Given the description of an element on the screen output the (x, y) to click on. 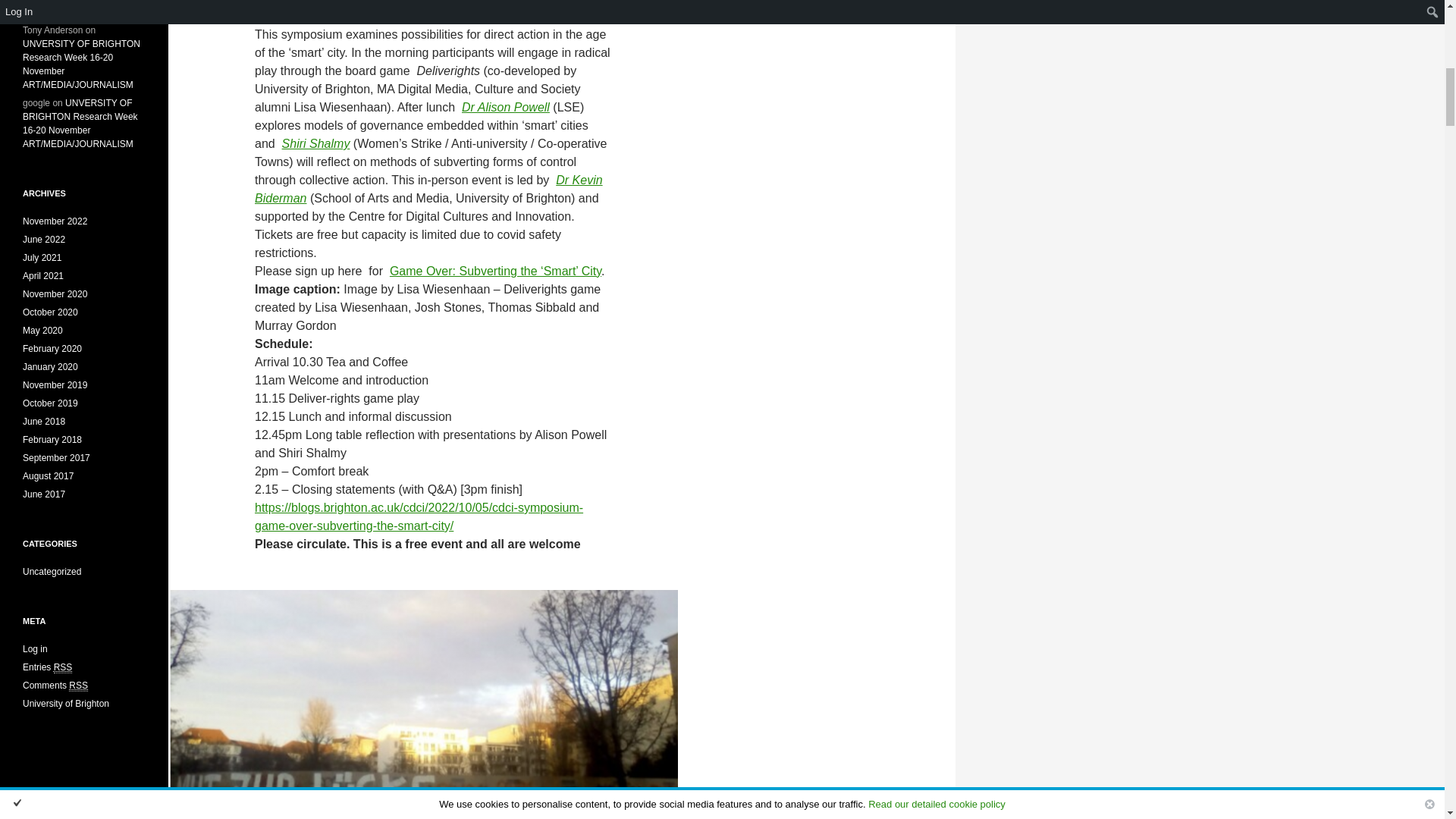
Powered by University of Brighton (66, 703)
Really Simple Syndication (62, 667)
Dr Alison Powell (505, 106)
The latest comments to all posts in RSS (55, 685)
Syndicate this site using RSS 2.0 (47, 667)
Really Simple Syndication (77, 685)
Shiri Shalmy (316, 143)
Dr Kevin Biderman (428, 188)
